Given the description of an element on the screen output the (x, y) to click on. 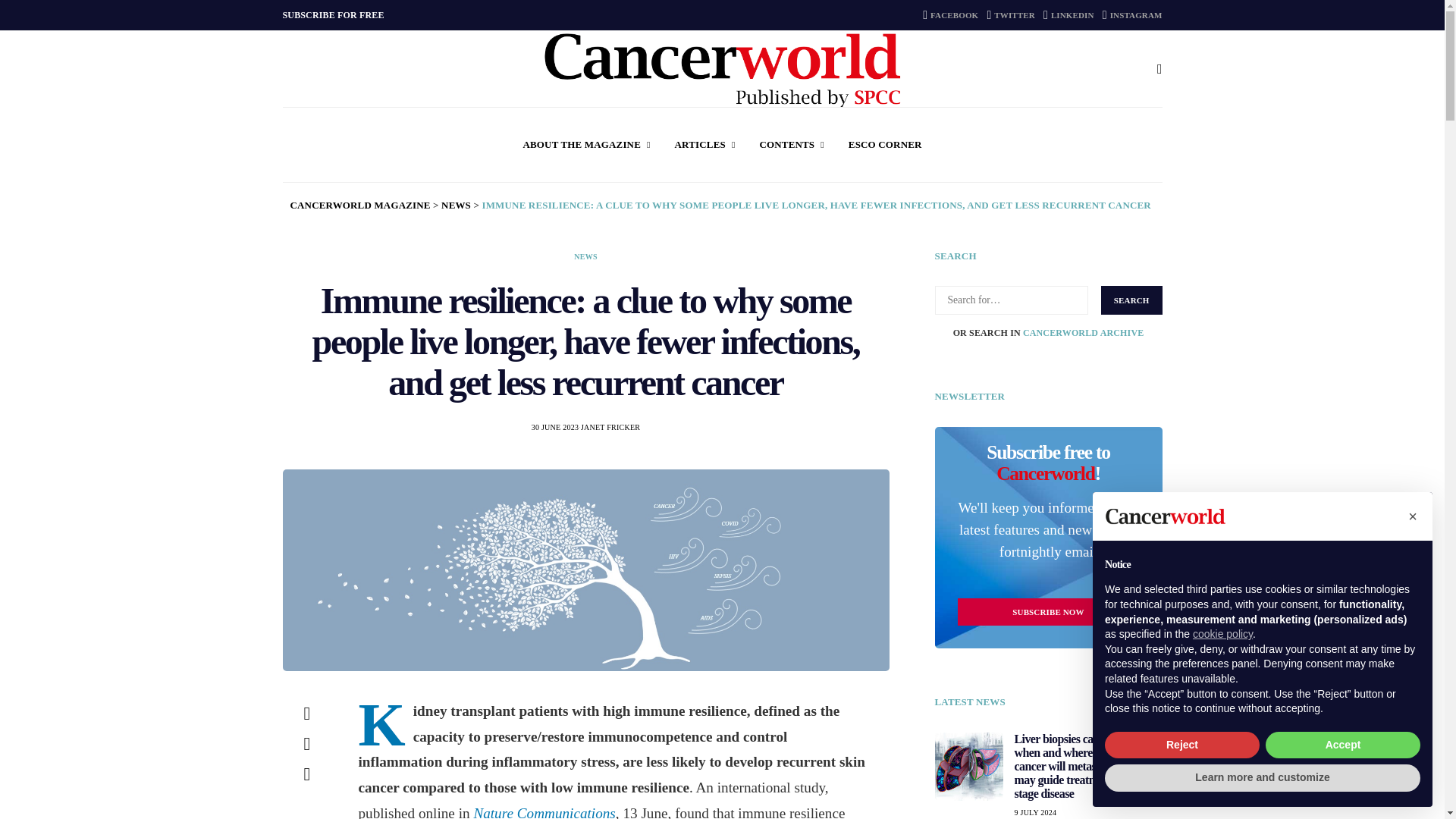
Go to Cancerworld Magazine. (359, 204)
Search (1130, 299)
SUBSCRIBE FOR FREE (333, 15)
FACEBOOK (950, 15)
Go to the News Category archives. (455, 204)
LINKEDIN (1068, 15)
INSTAGRAM (1131, 15)
TWITTER (1010, 15)
Search (1130, 299)
ABOUT THE MAGAZINE (585, 144)
